Given the description of an element on the screen output the (x, y) to click on. 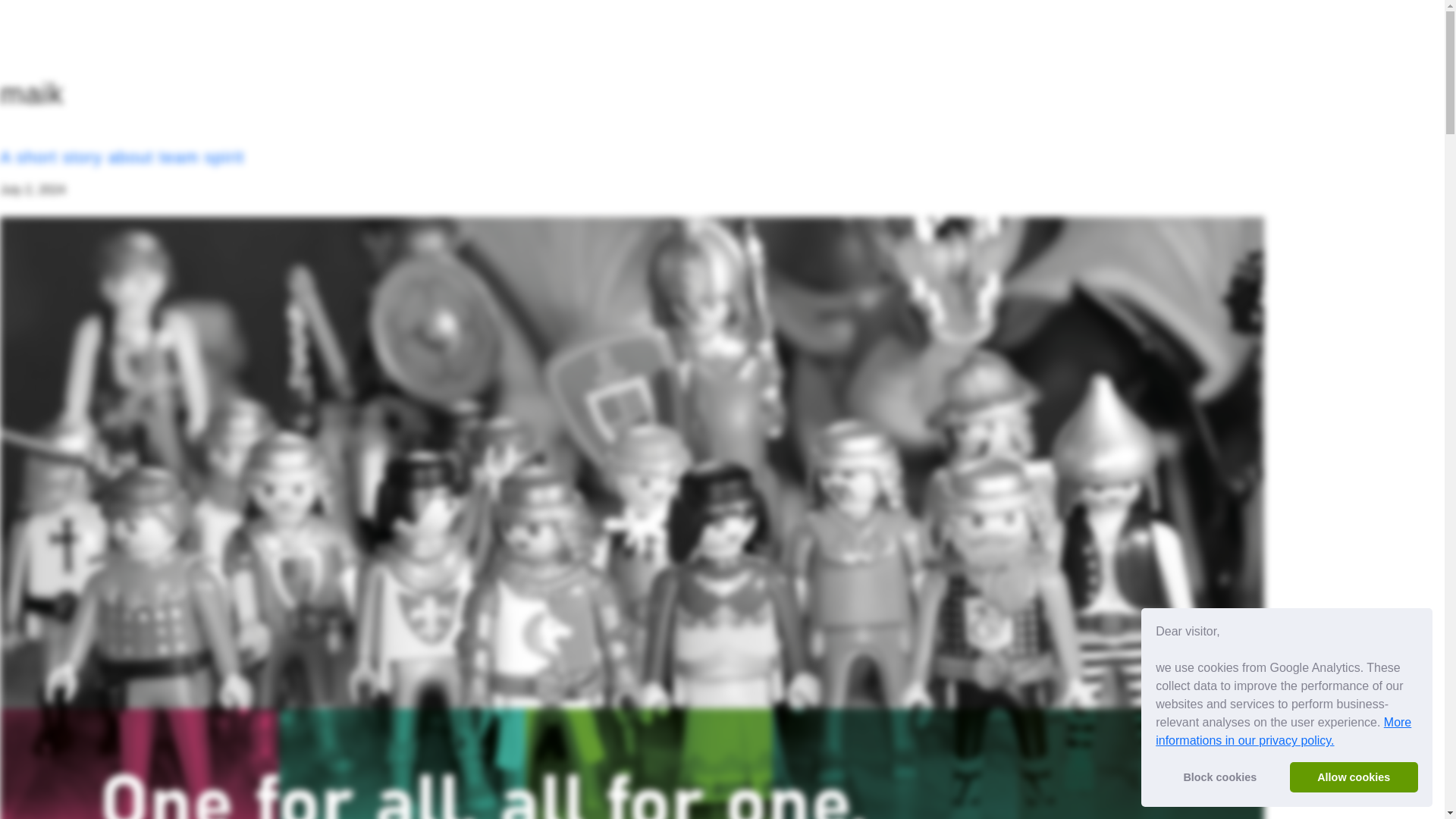
Allow cookies (1354, 777)
A short story about team spirit (122, 157)
More informations in our privacy policy. (1283, 730)
A short story about team spirit (122, 157)
Block cookies (1220, 777)
